Given the description of an element on the screen output the (x, y) to click on. 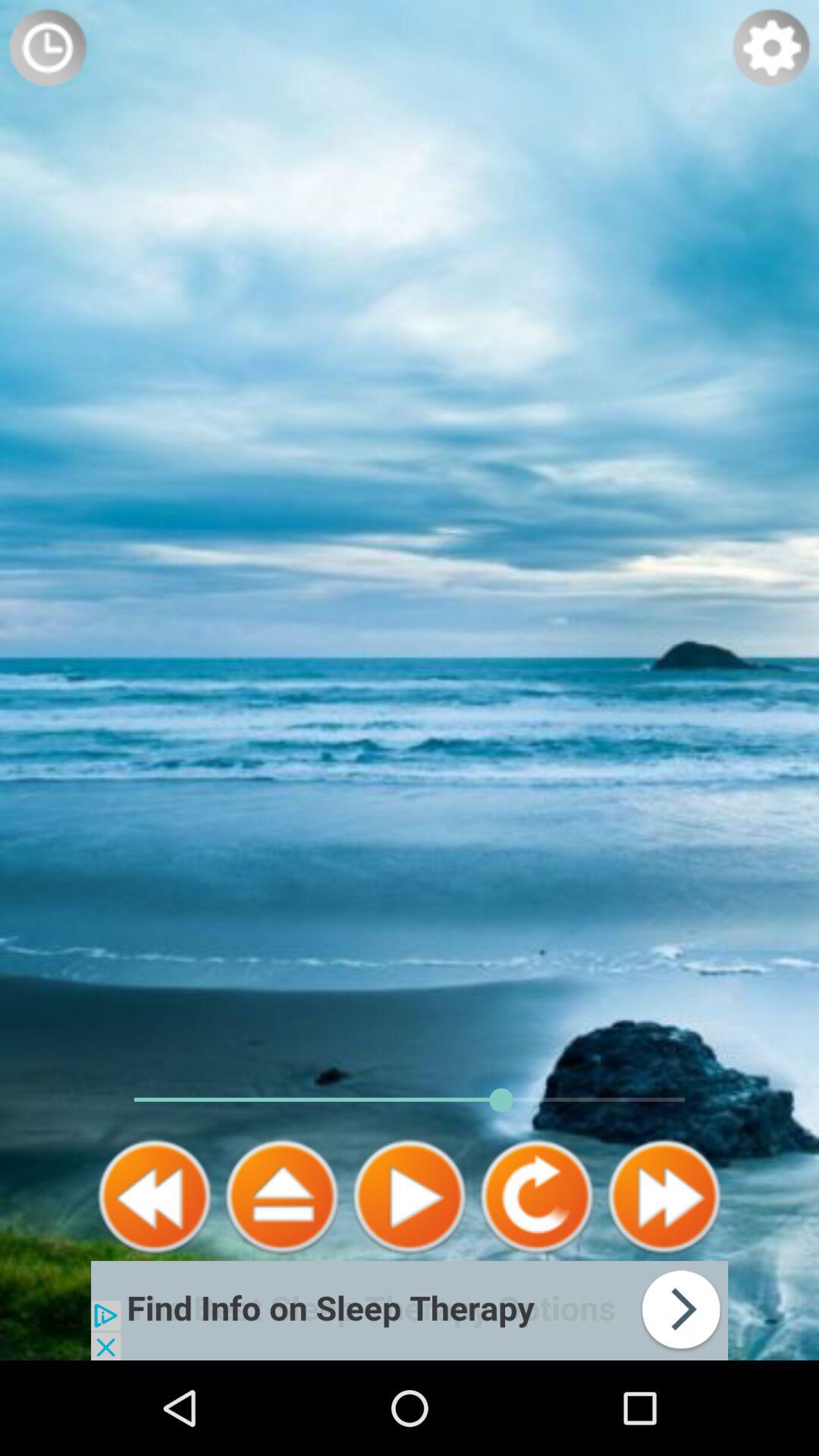
open timer (47, 47)
